Given the description of an element on the screen output the (x, y) to click on. 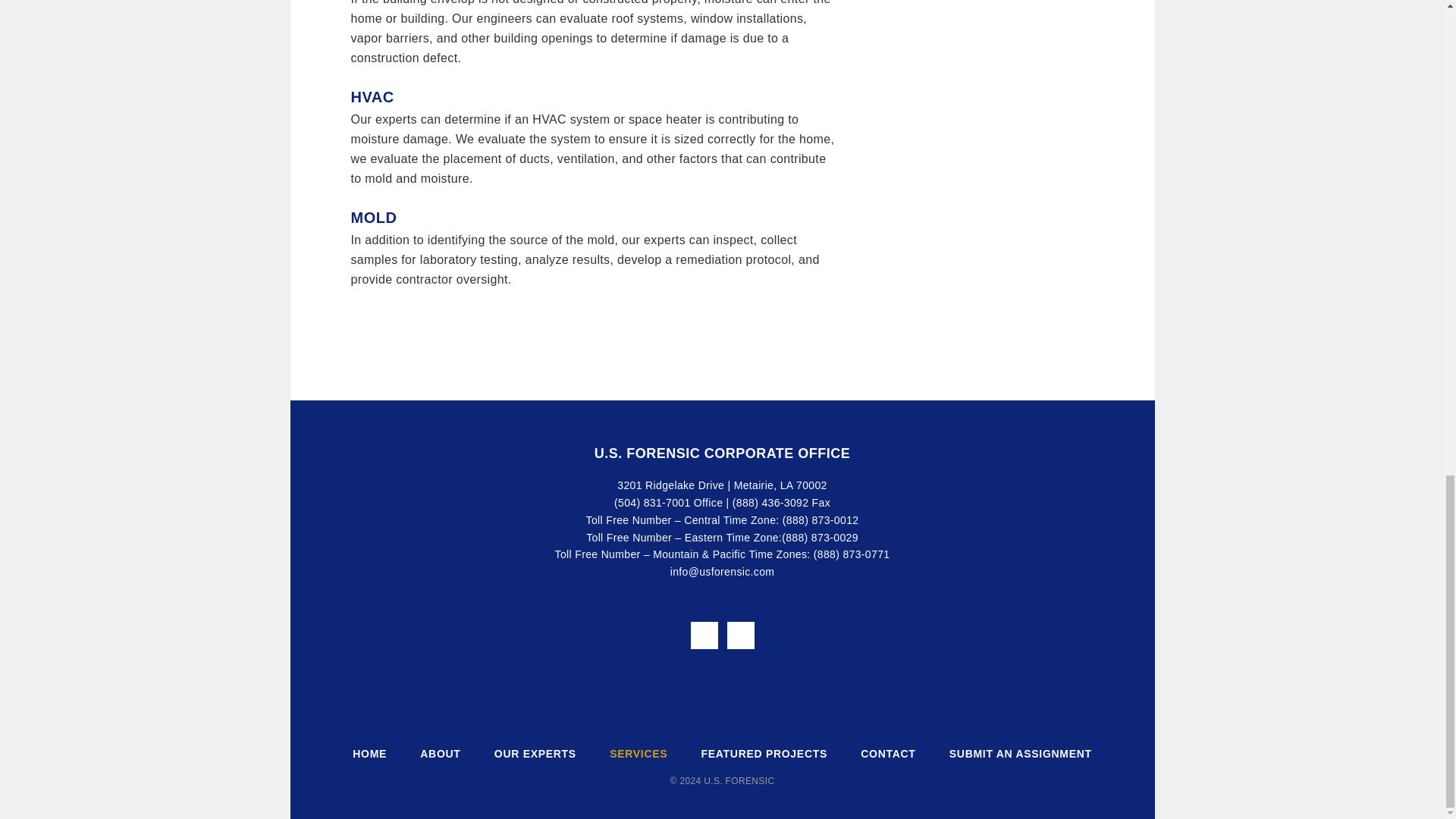
ABOUT (440, 753)
SERVICES (638, 753)
CONTACT (887, 753)
SUBMIT AN ASSIGNMENT (1020, 753)
HOME (369, 753)
OUR EXPERTS (535, 753)
FEATURED PROJECTS (764, 753)
